Given the description of an element on the screen output the (x, y) to click on. 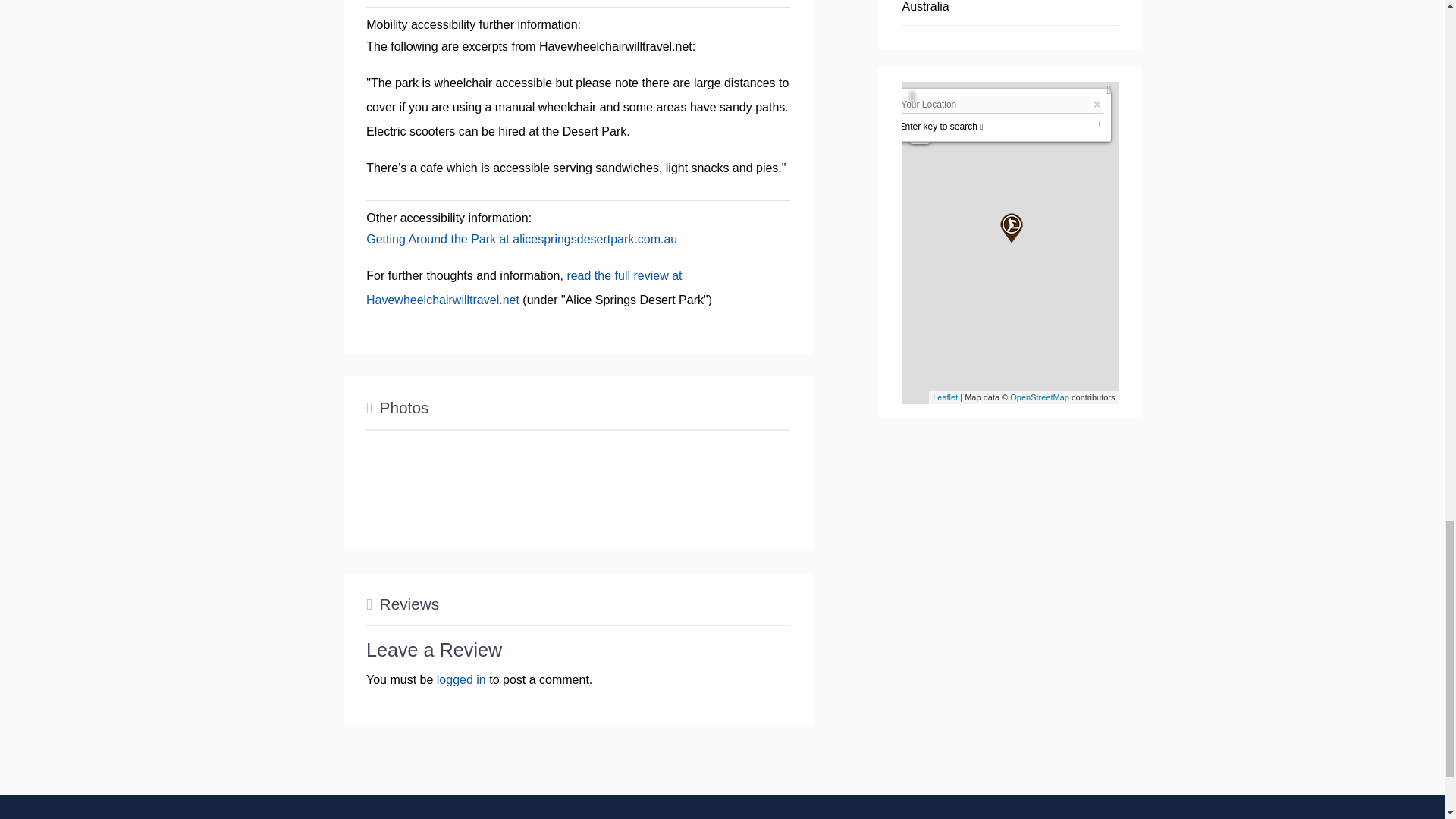
Zoom out (920, 134)
Zoom in (920, 114)
A JS library for interactive maps (945, 397)
